Given the description of an element on the screen output the (x, y) to click on. 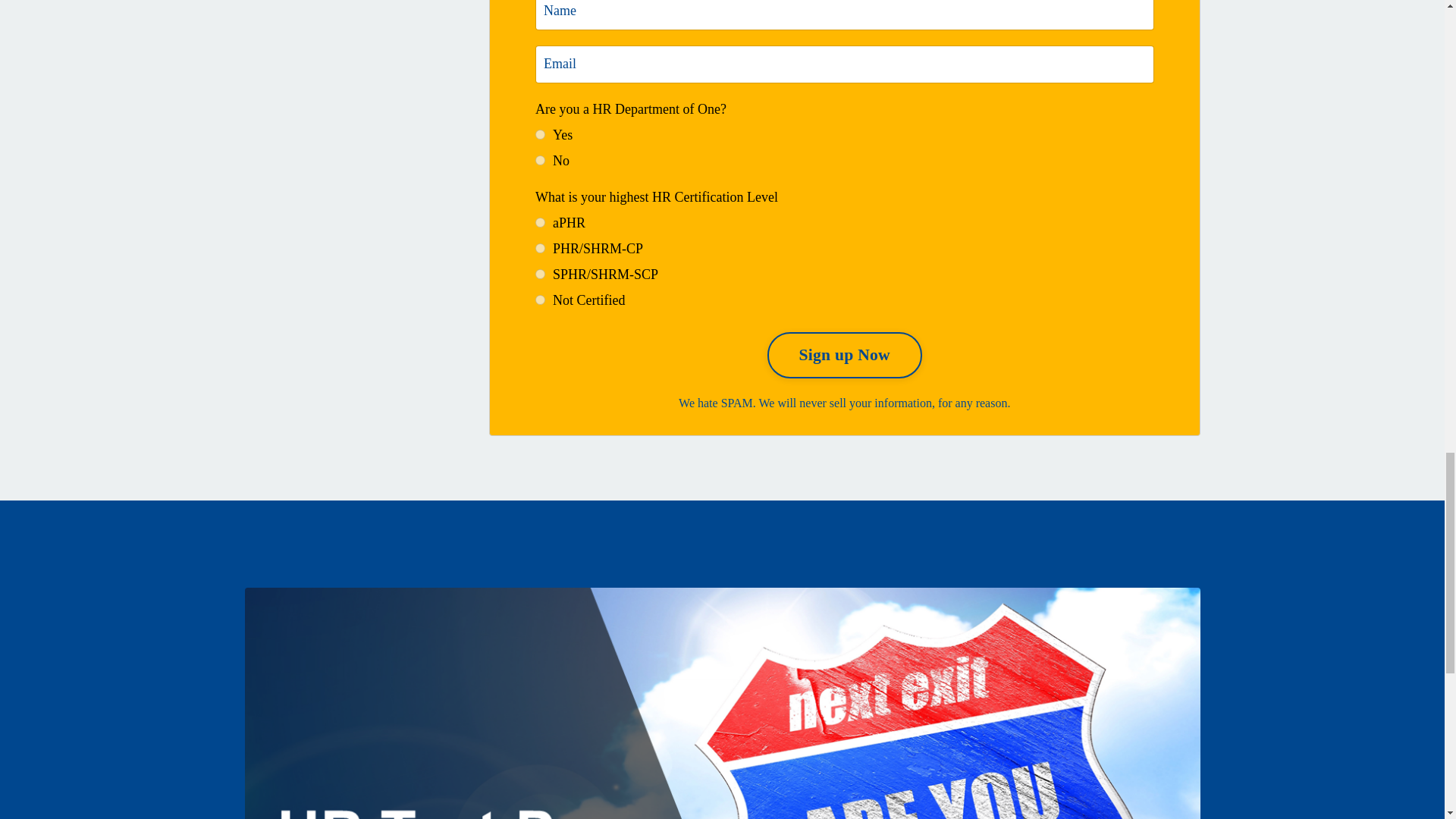
Not Certified (539, 298)
No (539, 160)
Sign up Now (844, 354)
aPHR (539, 222)
Sign up Now (844, 354)
Yes (539, 134)
